Given the description of an element on the screen output the (x, y) to click on. 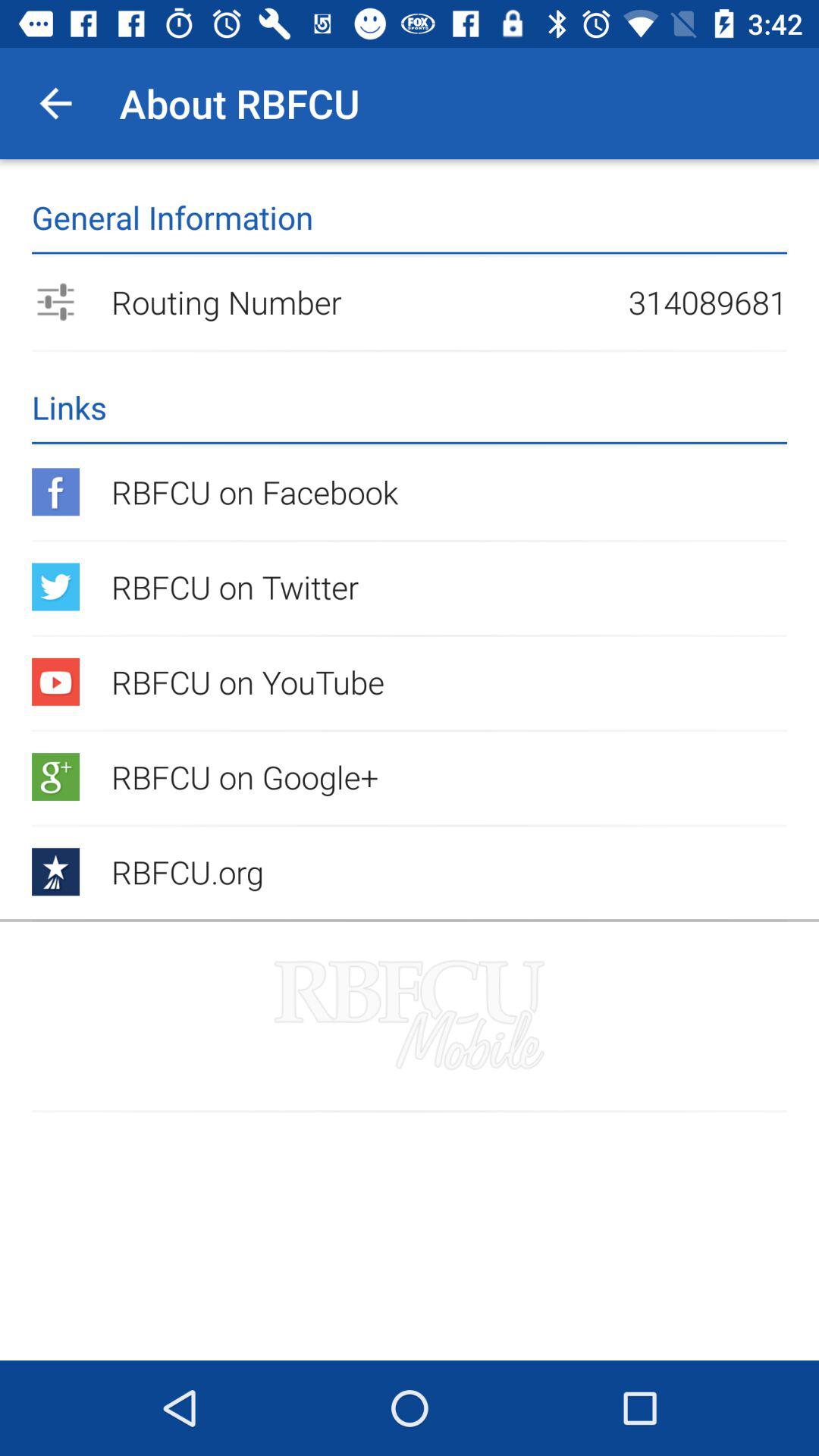
turn off the icon above the general information item (55, 103)
